Given the description of an element on the screen output the (x, y) to click on. 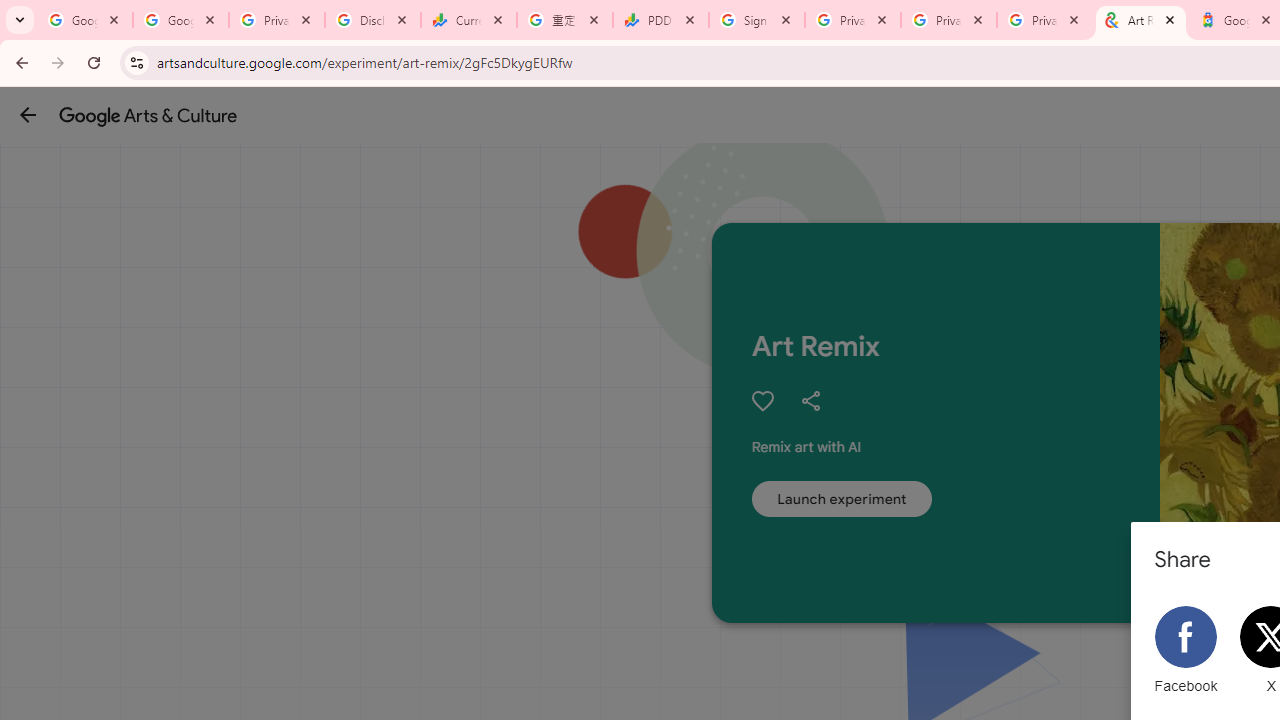
Sign in - Google Accounts (757, 20)
Google Arts & Culture (148, 115)
Privacy Checkup (1045, 20)
Share on Facebook (1185, 650)
Google Workspace Admin Community (85, 20)
